Given the description of an element on the screen output the (x, y) to click on. 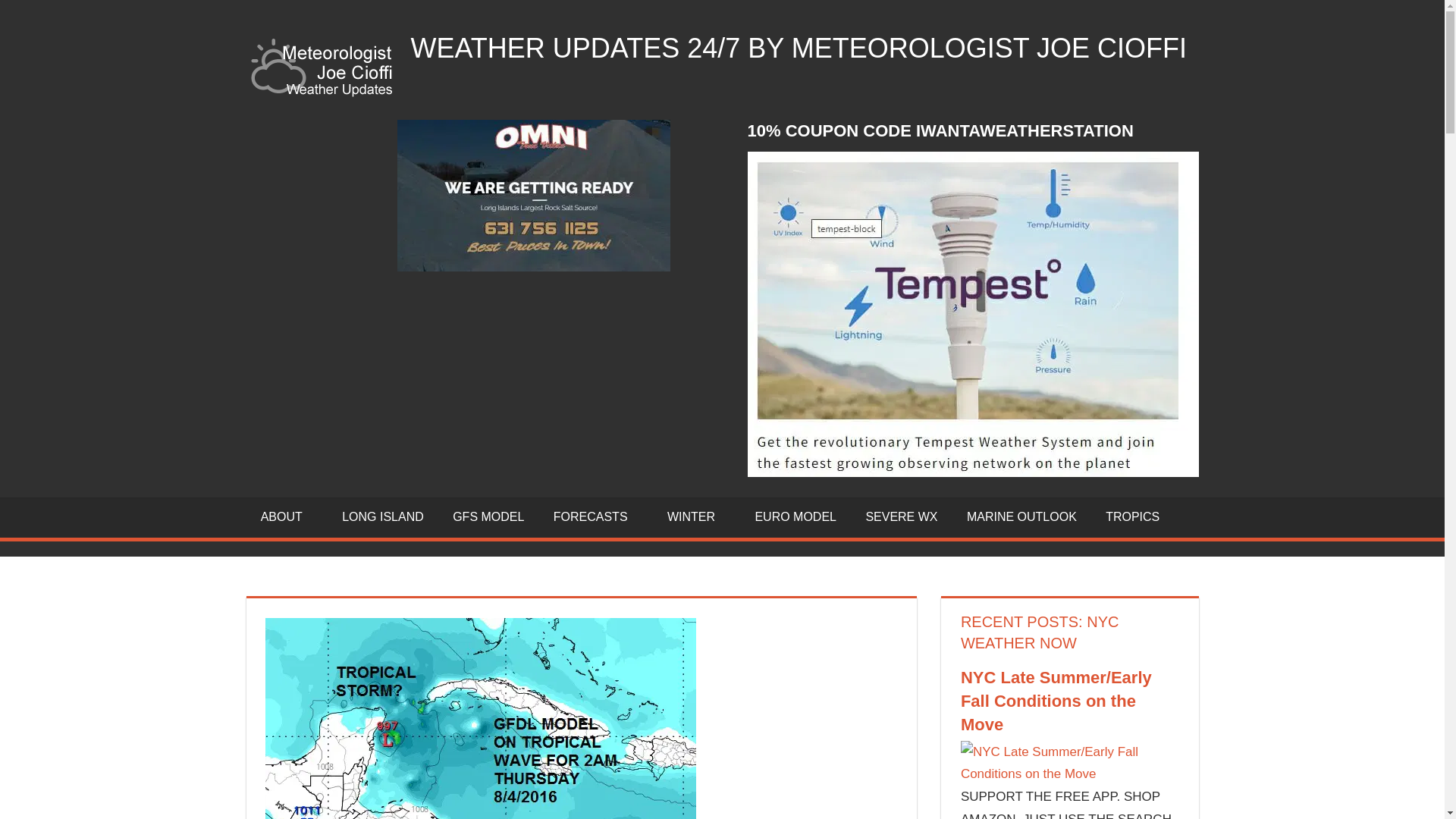
TROPICS (1132, 517)
ABOUT (286, 517)
SEVERE WX (901, 517)
EURO MODEL (794, 517)
WINTER (695, 517)
FORECASTS (595, 517)
MARINE OUTLOOK (1021, 517)
GFS MODEL (488, 517)
LONG ISLAND (382, 517)
